Given the description of an element on the screen output the (x, y) to click on. 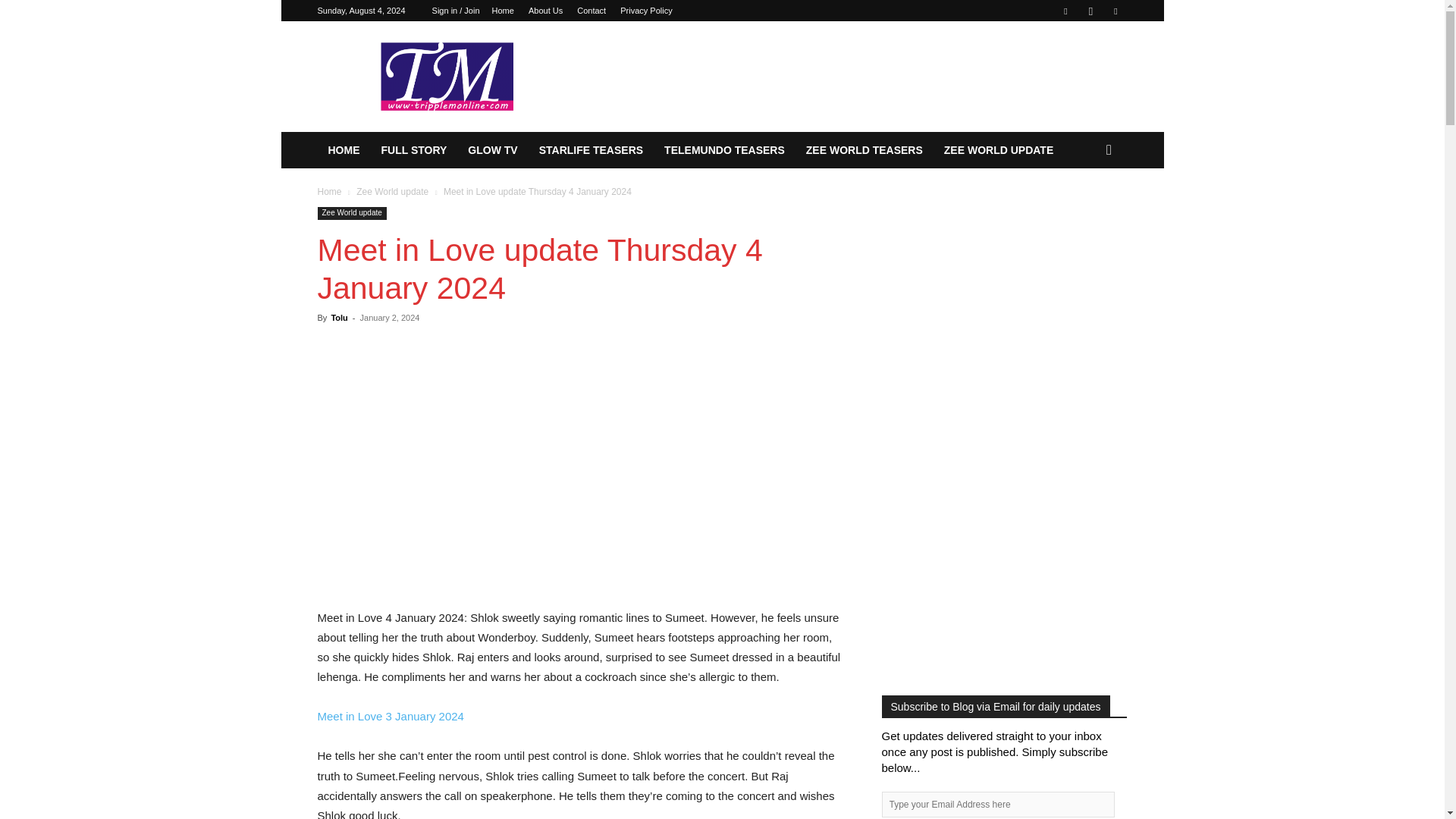
ZEE WORLD TEASERS (863, 149)
Search (1085, 210)
Home (328, 191)
Privacy Policy (645, 10)
About Us (545, 10)
View all posts in Zee World update (392, 191)
HOME (343, 149)
Contact (590, 10)
Zee World update (351, 213)
Facebook (1065, 10)
GLOW TV (492, 149)
Twitter (1114, 10)
ZEE WORLD UPDATE (998, 149)
FULL STORY (413, 149)
STARLIFE TEASERS (590, 149)
